Given the description of an element on the screen output the (x, y) to click on. 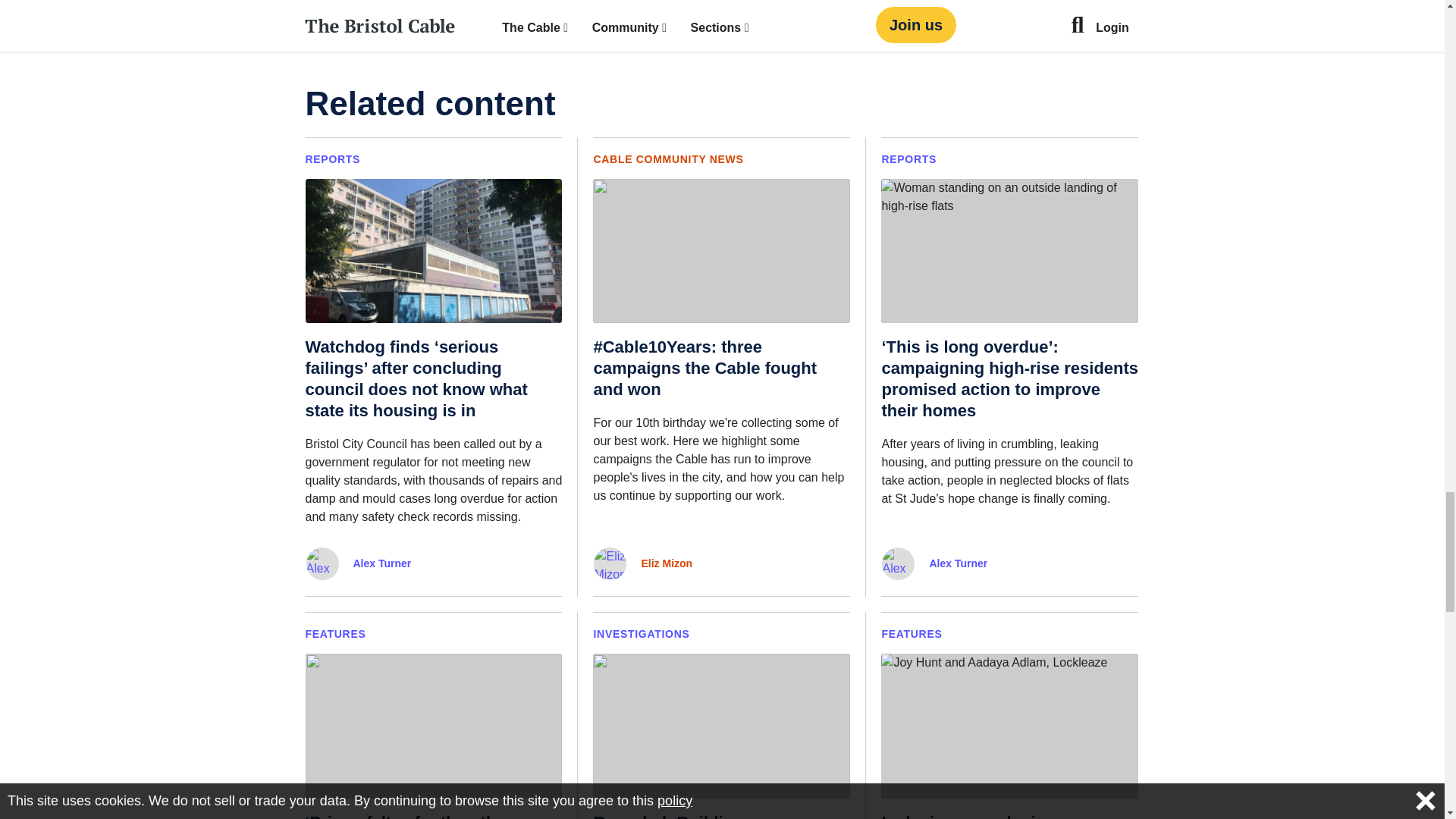
Opens in a new tab (780, 33)
Post Comment (513, 9)
